Given the description of an element on the screen output the (x, y) to click on. 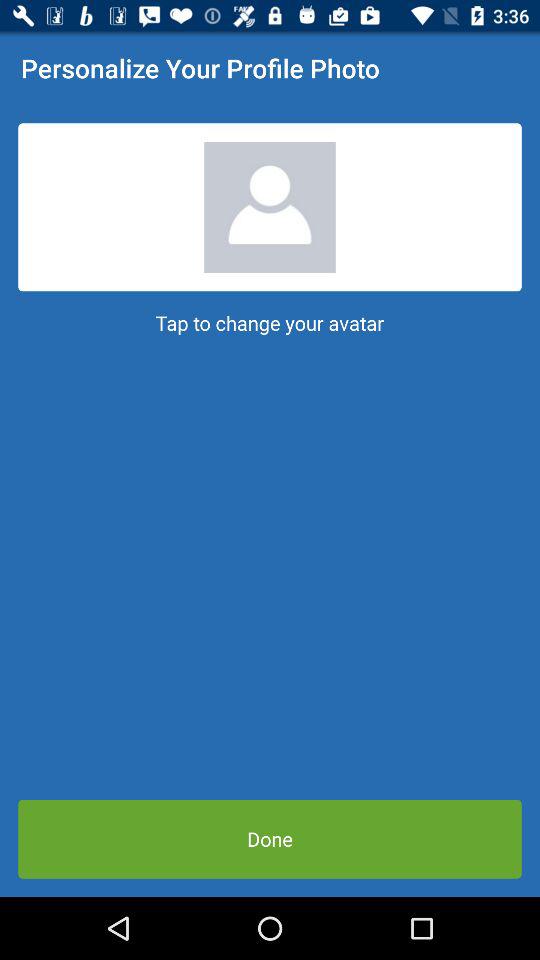
choose the item above tap to change item (269, 207)
